Given the description of an element on the screen output the (x, y) to click on. 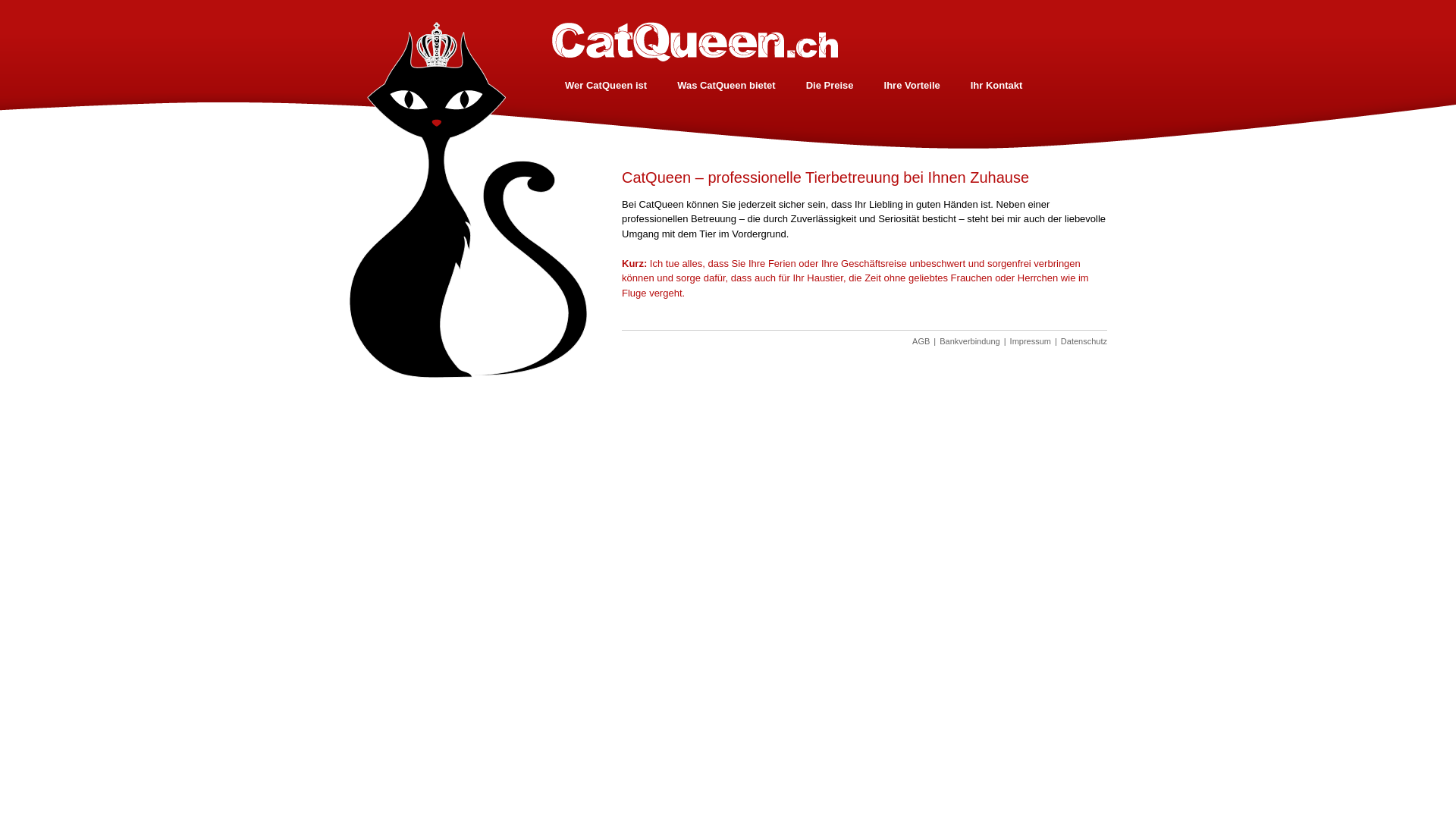
Ihre Vorteile Element type: text (911, 84)
Impressum Element type: text (1030, 340)
Ihr Kontakt Element type: text (996, 84)
Was CatQueen bietet Element type: text (726, 84)
Datenschutz Element type: text (1083, 340)
Wer CatQueen ist Element type: text (605, 84)
AGB Element type: text (920, 340)
Die Preise Element type: text (829, 84)
Bankverbindung Element type: text (969, 340)
